Given the description of an element on the screen output the (x, y) to click on. 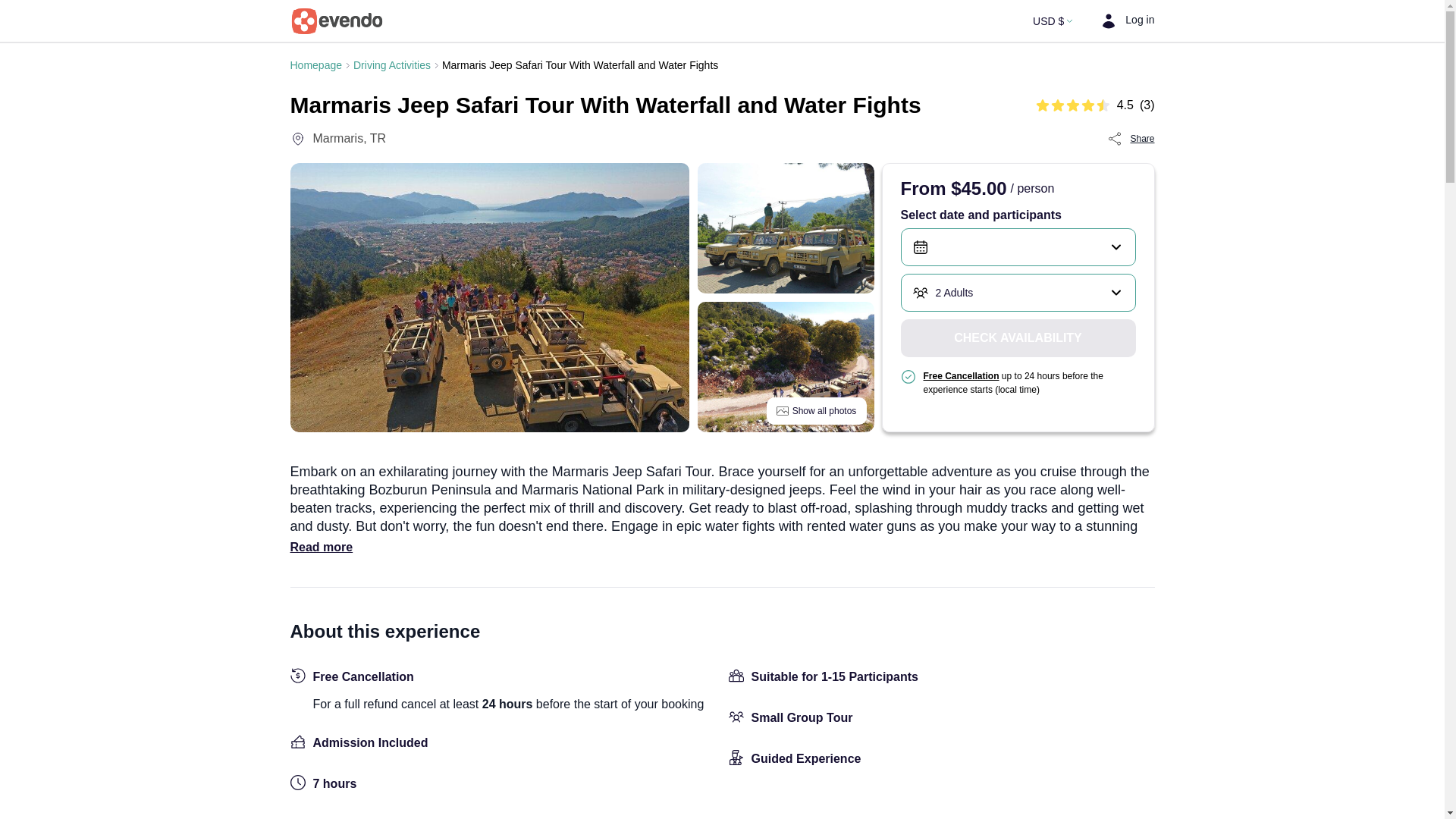
LiveChat chat widget (1405, 779)
